Given the description of an element on the screen output the (x, y) to click on. 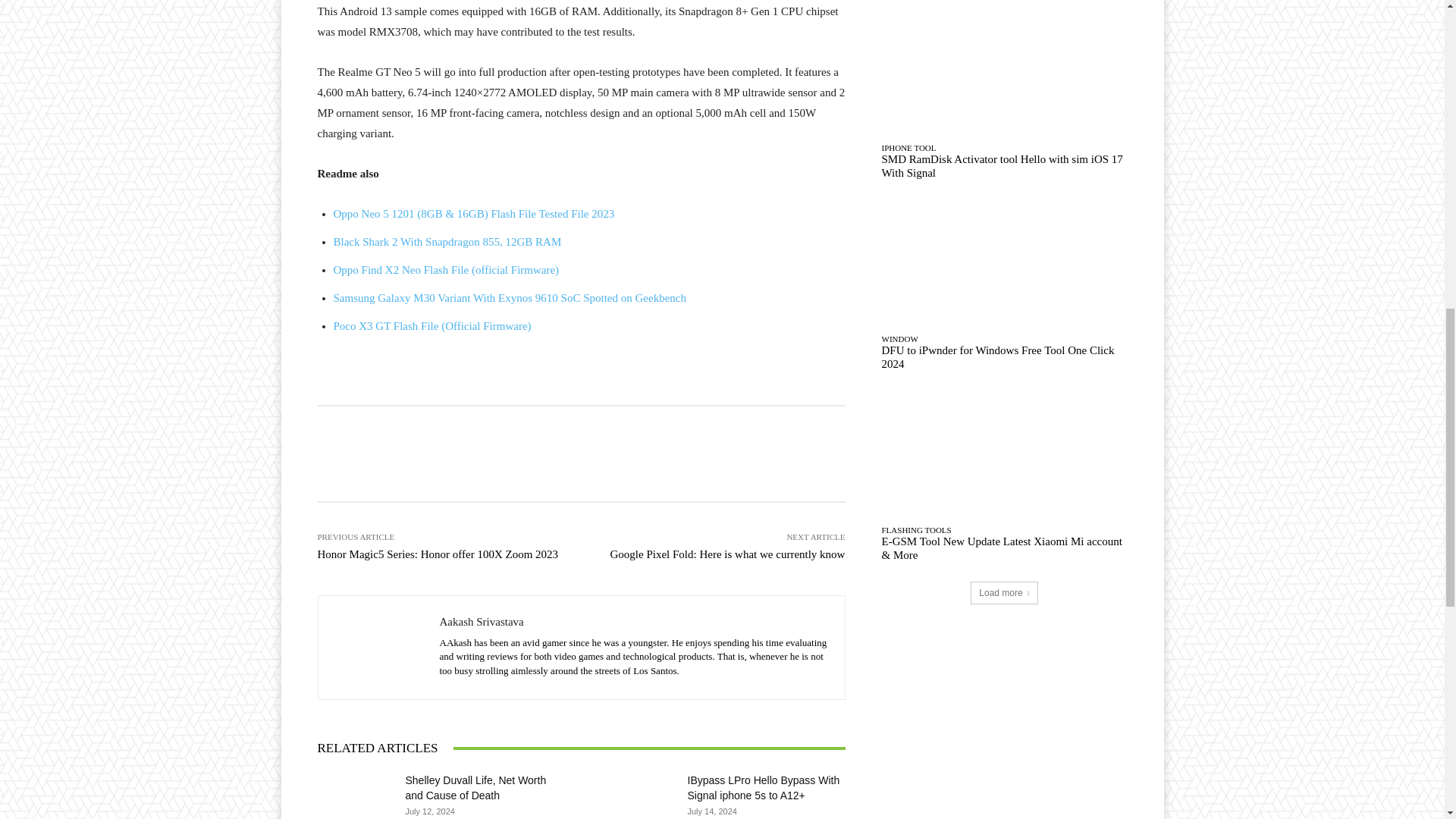
Black Shark 2 With Snapdragon 855, 12GB RAM (447, 241)
